Given the description of an element on the screen output the (x, y) to click on. 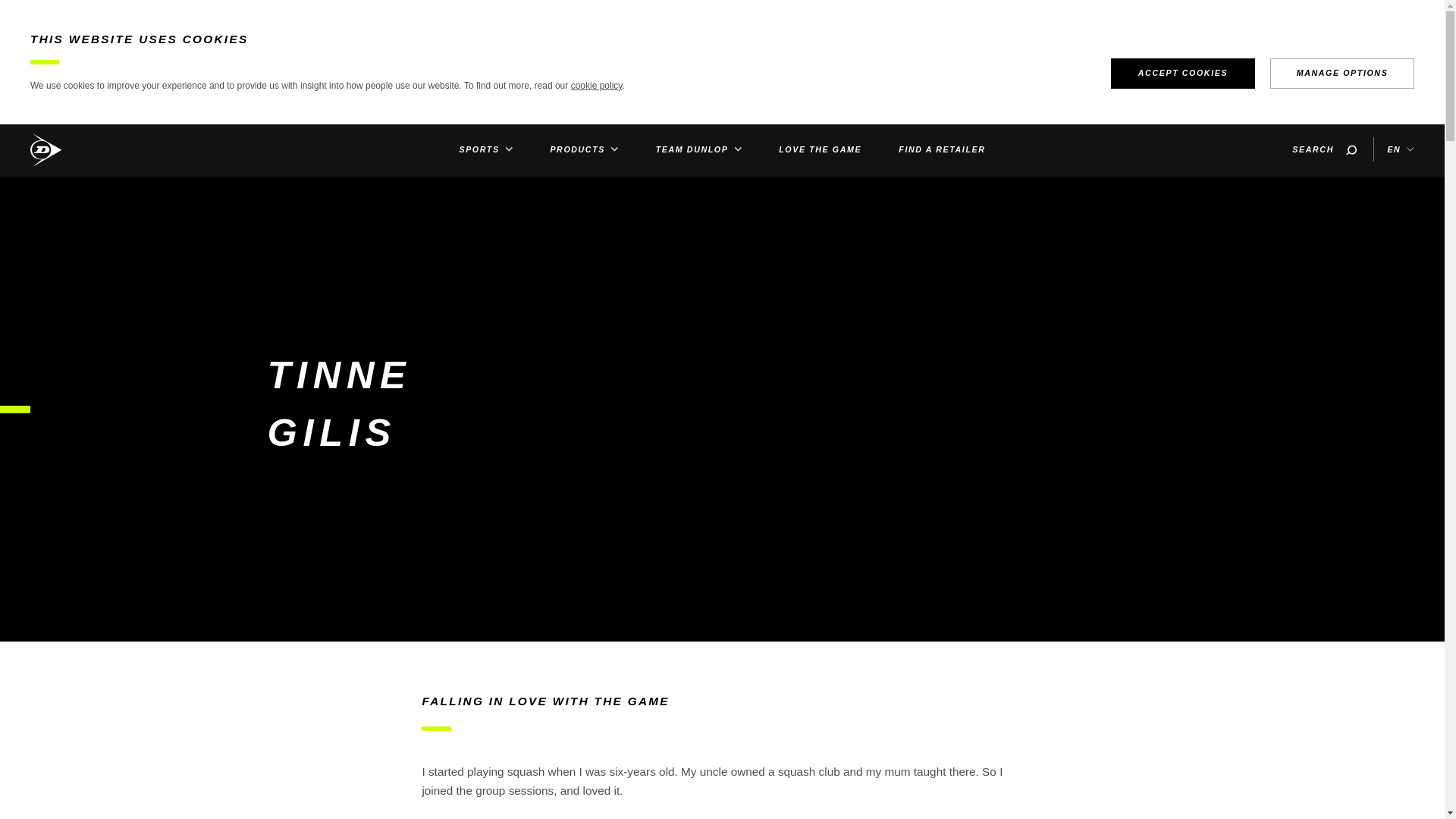
MANAGE OPTIONS (1341, 73)
PRODUCTS (583, 148)
SEARCH (1324, 148)
FIND A RETAILER (941, 148)
LOVE THE GAME (819, 148)
EN (1400, 148)
SPORTS (485, 148)
TEAM DUNLOP (698, 148)
ACCEPT COOKIES (1182, 73)
cookie policy (596, 85)
